Given the description of an element on the screen output the (x, y) to click on. 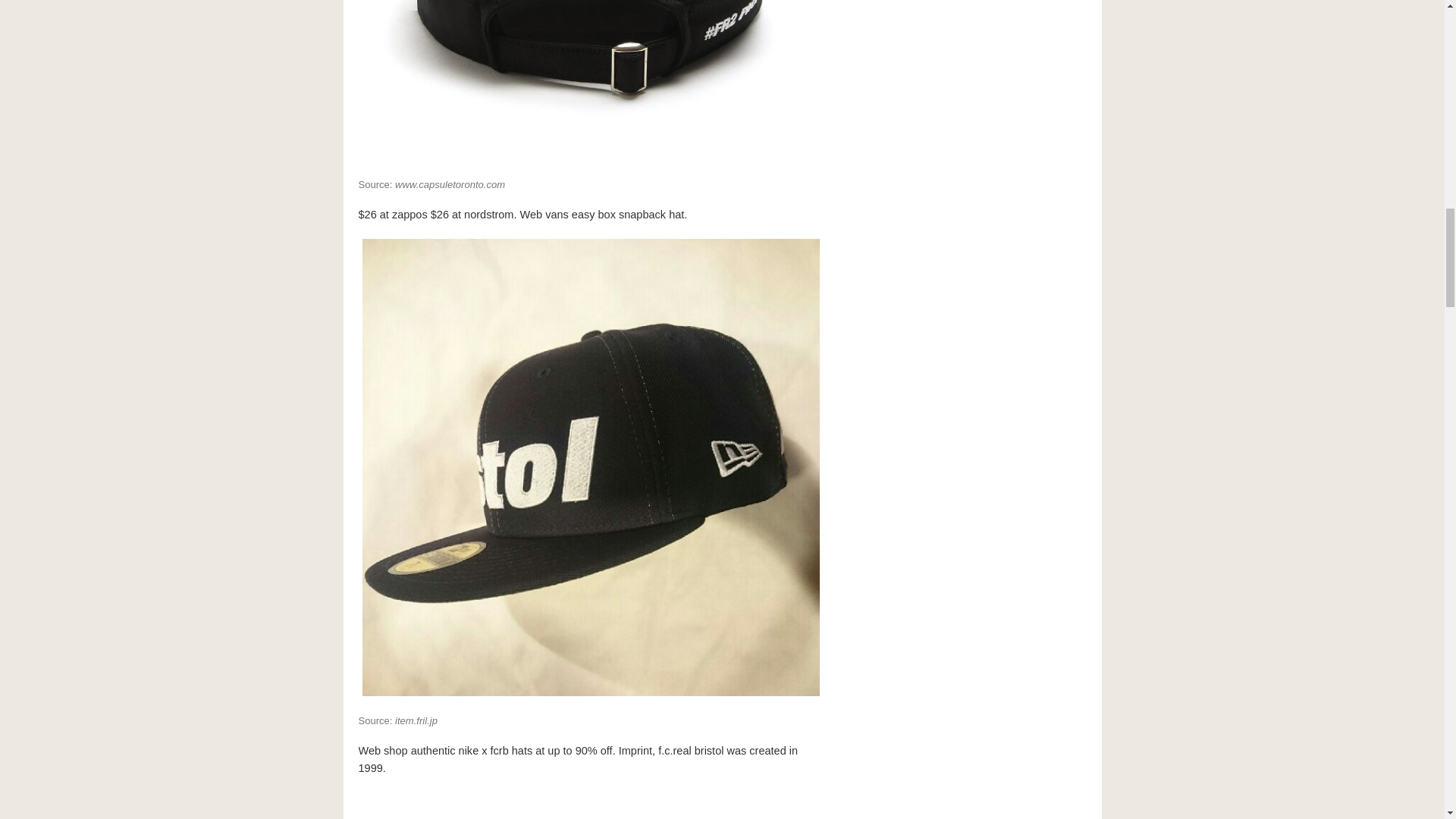
Incredible Fcrb Hats Ideas 3 (590, 81)
Incredible Fcrb Hats Ideas 5 (590, 803)
